Given the description of an element on the screen output the (x, y) to click on. 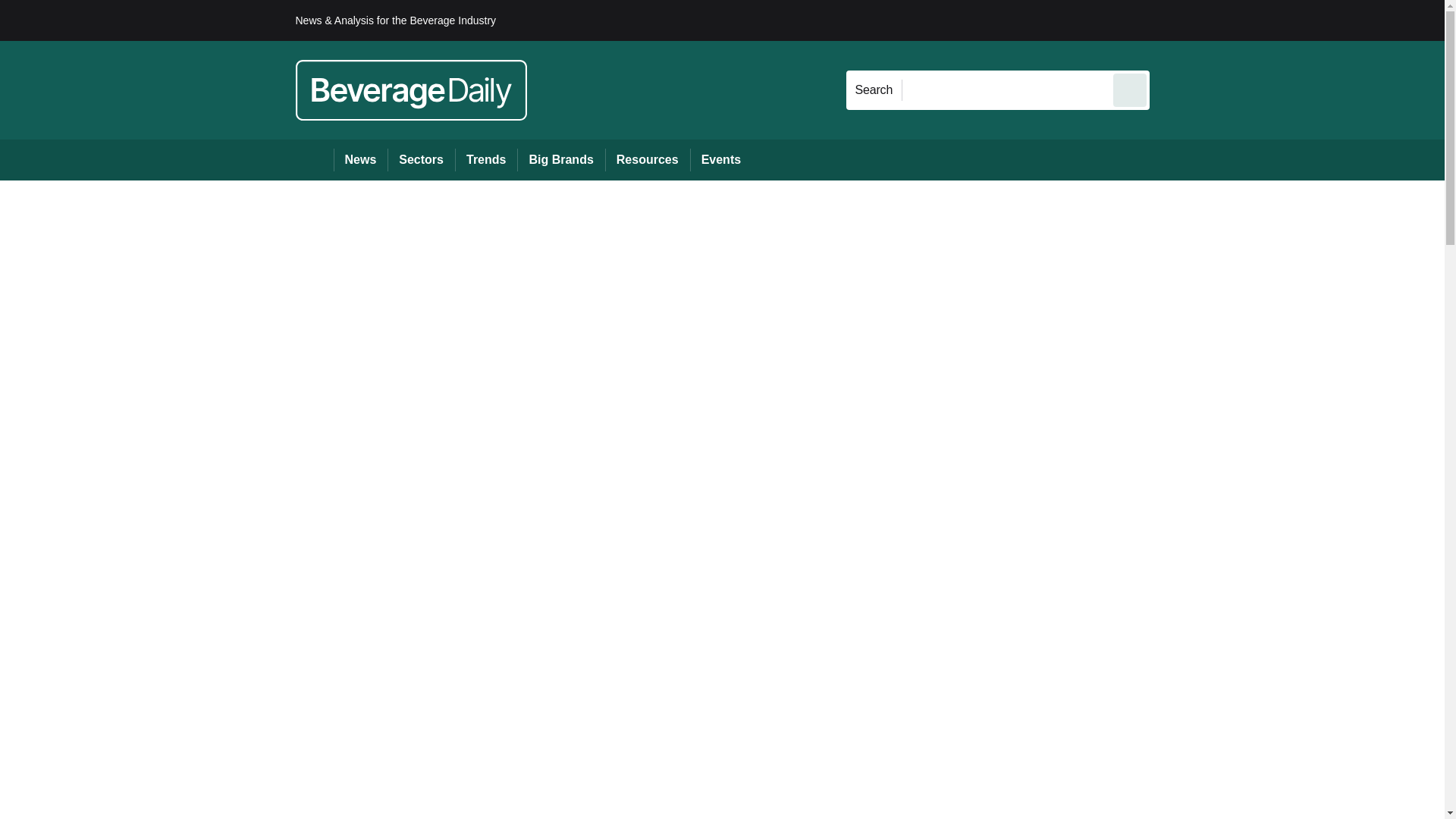
Sign out (1174, 20)
Sectors (420, 159)
News (360, 159)
Send (1129, 90)
Home (314, 159)
Sign in (1171, 20)
Send (1129, 89)
My account (1256, 20)
REGISTER (1250, 20)
Home (313, 159)
